Given the description of an element on the screen output the (x, y) to click on. 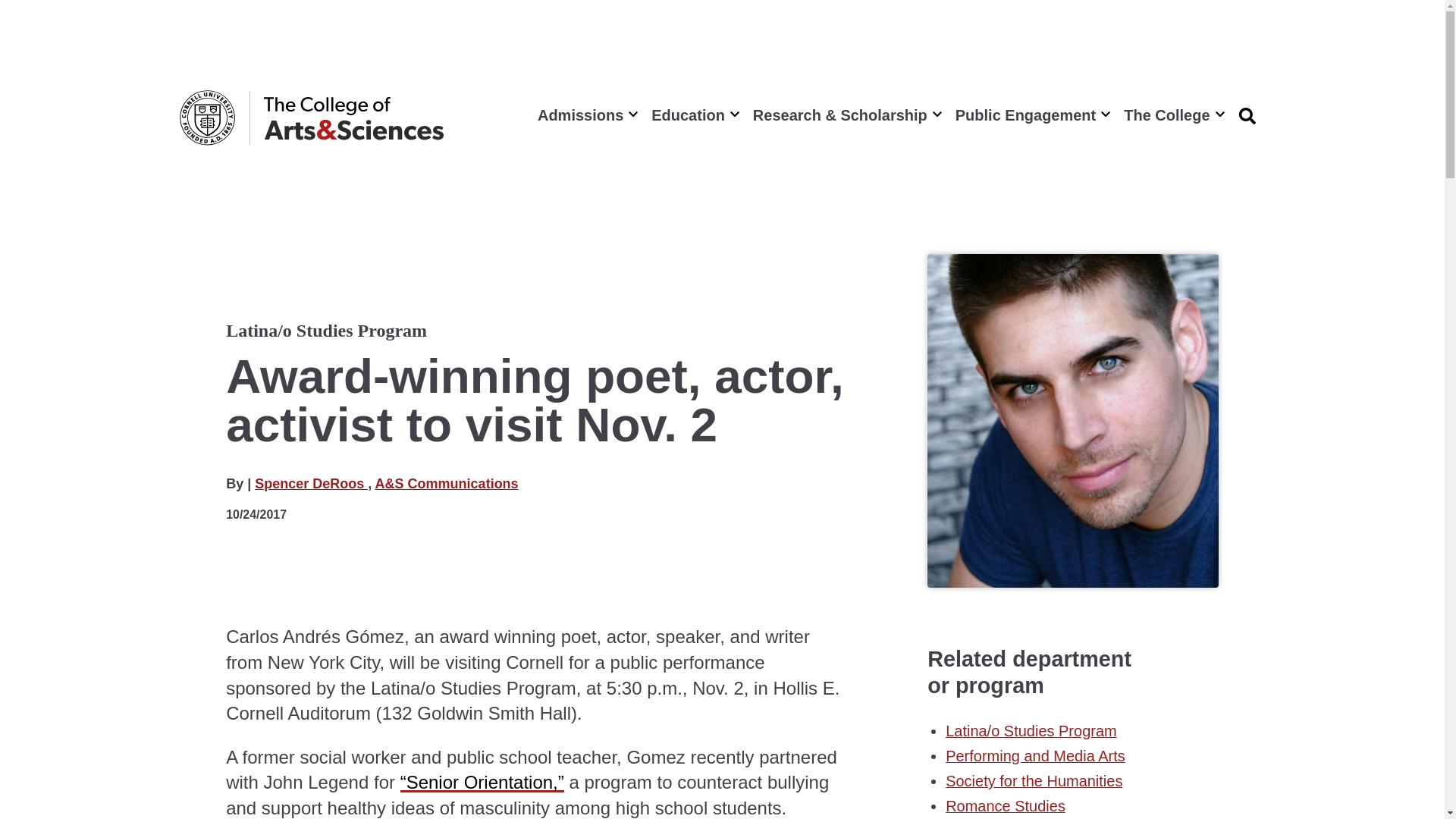
The College (1171, 115)
Education (693, 115)
Cornell University (206, 117)
Admissions (585, 115)
Cornell University (206, 117)
Public Engagement (1030, 115)
